Given the description of an element on the screen output the (x, y) to click on. 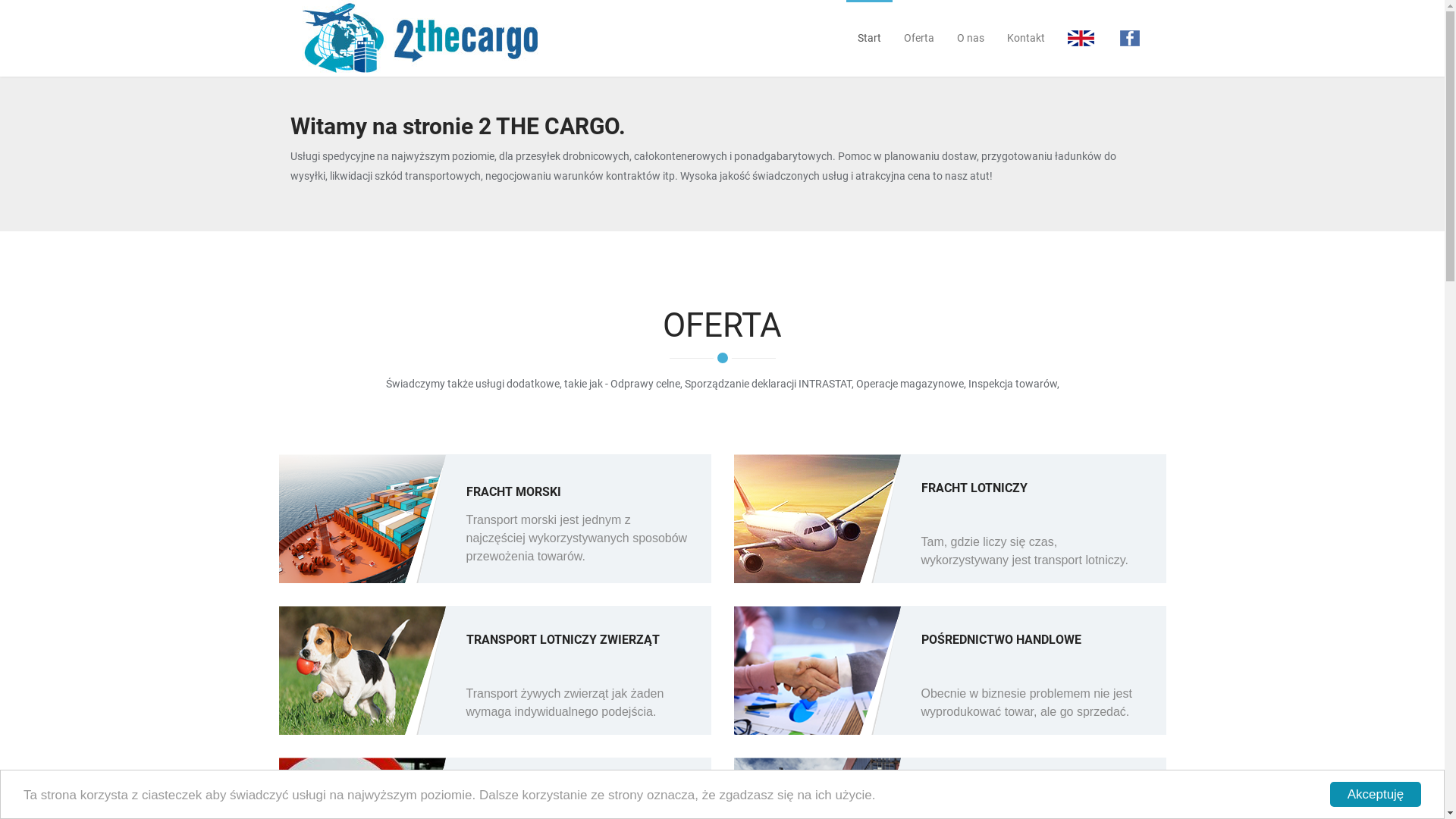
Kontakt Element type: text (1024, 37)
Start Element type: text (869, 37)
O nas Element type: text (969, 37)
FRACHT MORSKI Element type: text (577, 491)
Oferta Element type: text (917, 37)
FRACHT LOTNICZY
  Element type: text (1032, 500)
